Given the description of an element on the screen output the (x, y) to click on. 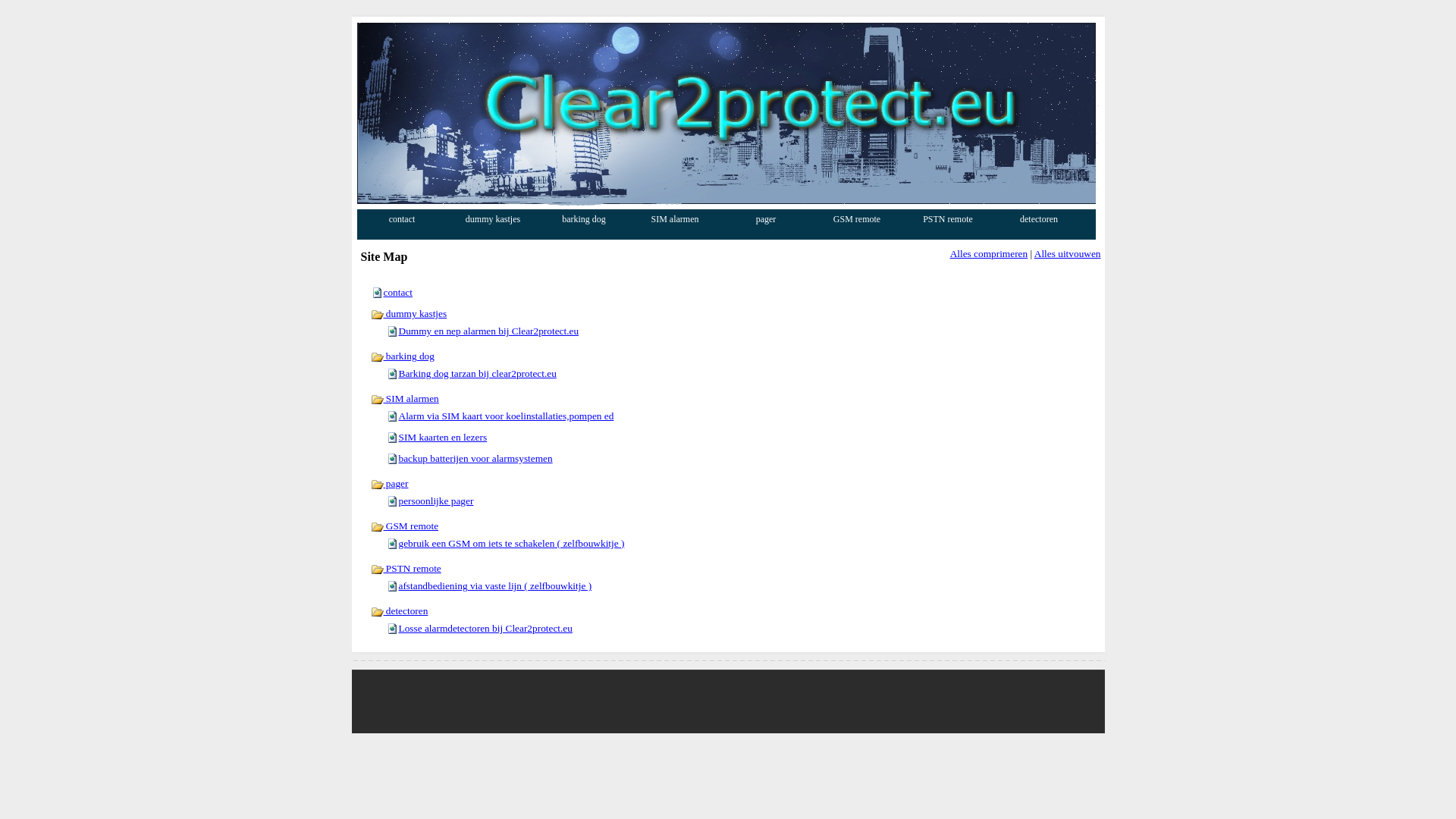
GSM remote Element type: text (404, 525)
Alles uitvouwen Element type: text (1067, 253)
detectoren Element type: text (398, 610)
SIM kaarten en lezers Element type: text (442, 436)
afstandbediening via vaste lijn ( zelfbouwkitje ) Element type: text (495, 585)
gebruik een GSM om iets te schakelen ( zelfbouwkitje ) Element type: text (511, 543)
Losse alarmdetectoren bij Clear2protect.eu Element type: text (485, 627)
Alarm via SIM kaart voor koelinstallaties,pompen ed Element type: text (506, 415)
contact Element type: text (397, 292)
barking dog Element type: text (584, 219)
detectoren Element type: text (1039, 219)
contact Element type: text (402, 219)
SIM alarmen Element type: text (404, 398)
backup batterijen voor alarmsystemen Element type: text (475, 458)
Barking dog tarzan bij clear2protect.eu Element type: text (477, 373)
dummy kastjes Element type: text (408, 313)
pager Element type: text (388, 483)
barking dog Element type: text (401, 355)
dummy kastjes Element type: text (493, 219)
Dummy en nep alarmen bij Clear2protect.eu Element type: text (488, 330)
Alles comprimeren Element type: text (989, 253)
PSTN remote Element type: text (405, 568)
persoonlijke pager Element type: text (435, 500)
